Given the description of an element on the screen output the (x, y) to click on. 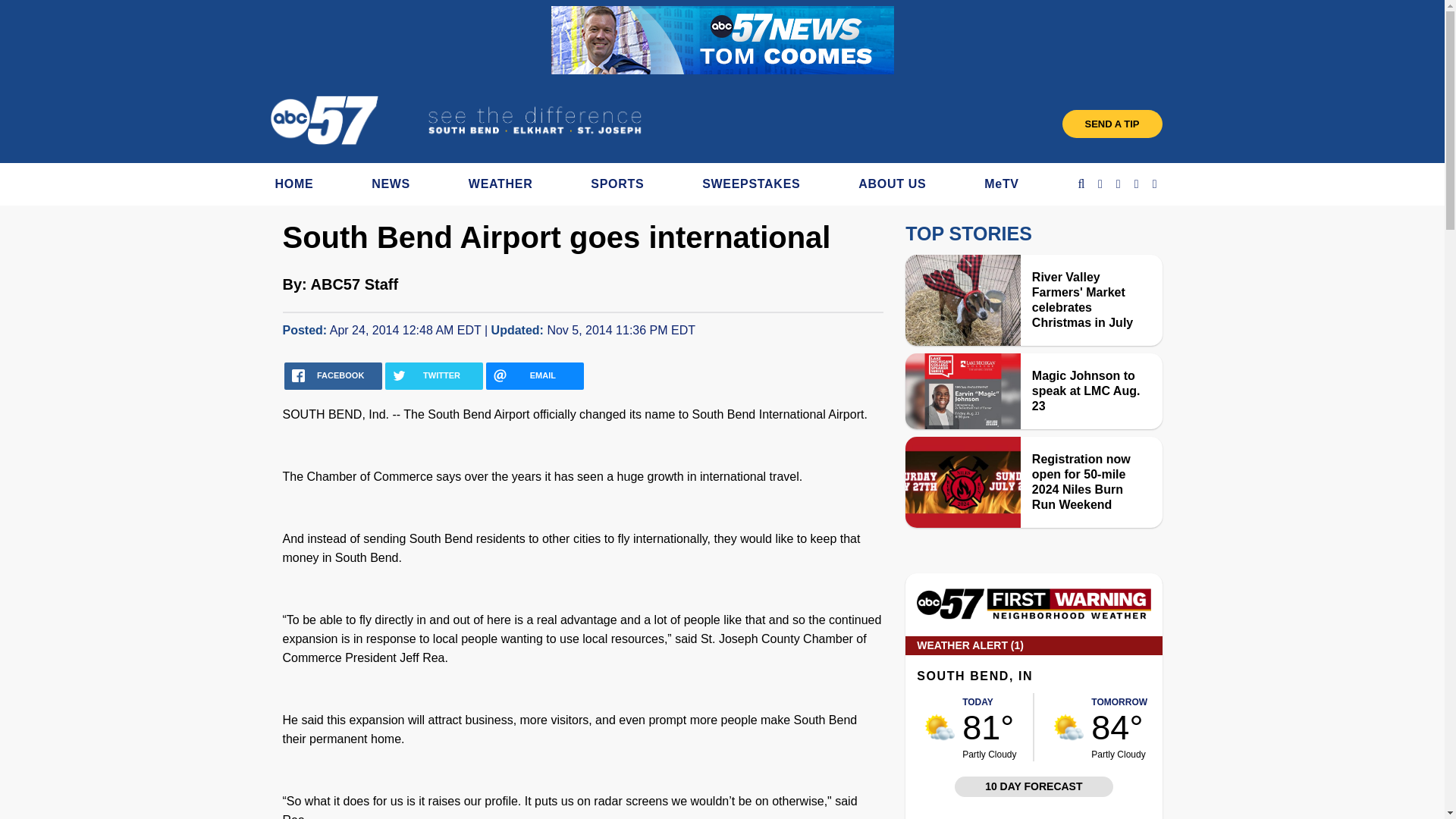
Weather (1033, 615)
weather (939, 726)
weather (1067, 726)
